Given the description of an element on the screen output the (x, y) to click on. 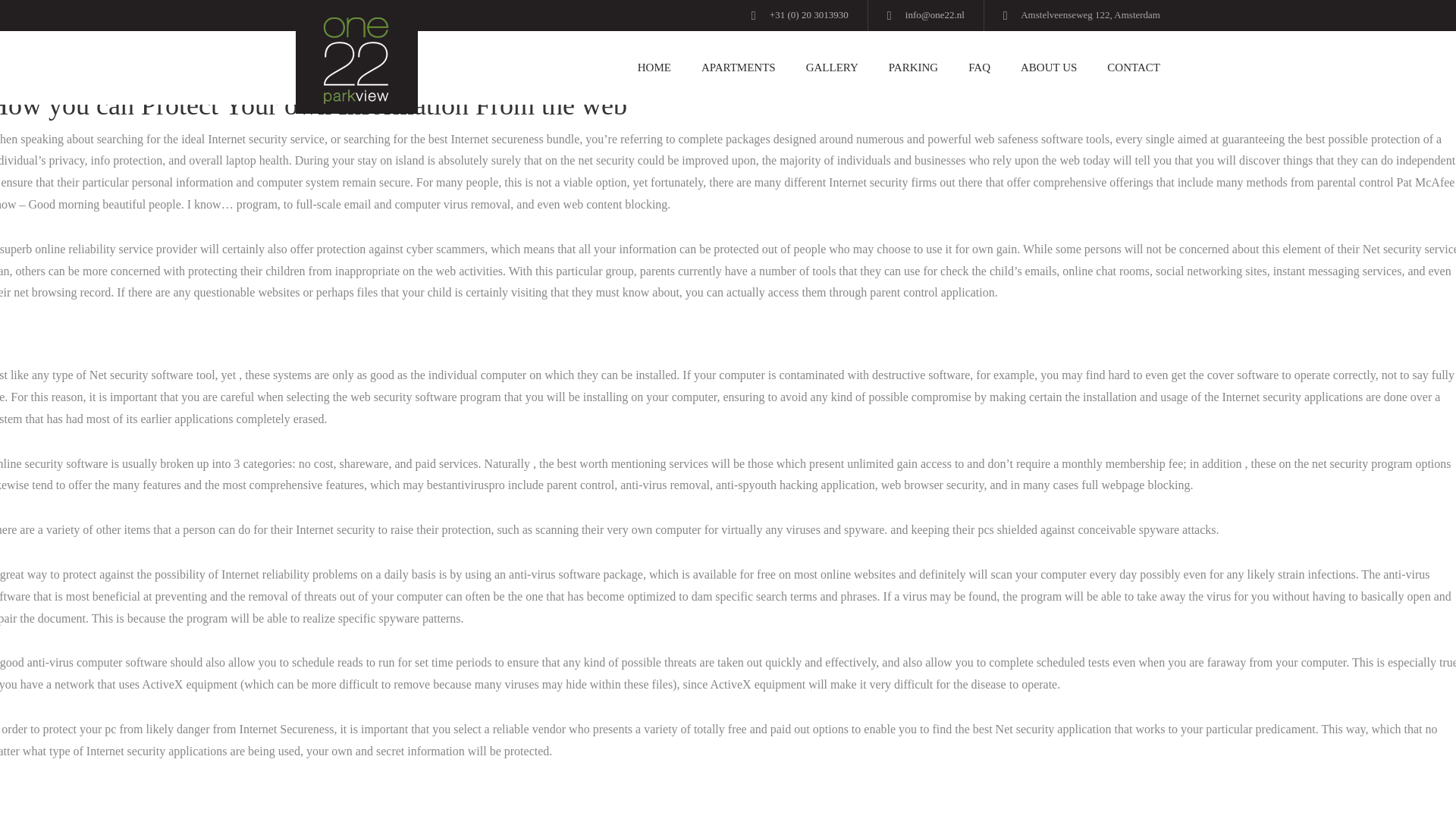
ABOUT US (1049, 67)
bestantiviruspro (465, 484)
APARTMENTS (737, 67)
CONTACT (1126, 67)
GALLERY (831, 67)
PARKING (913, 67)
